Given the description of an element on the screen output the (x, y) to click on. 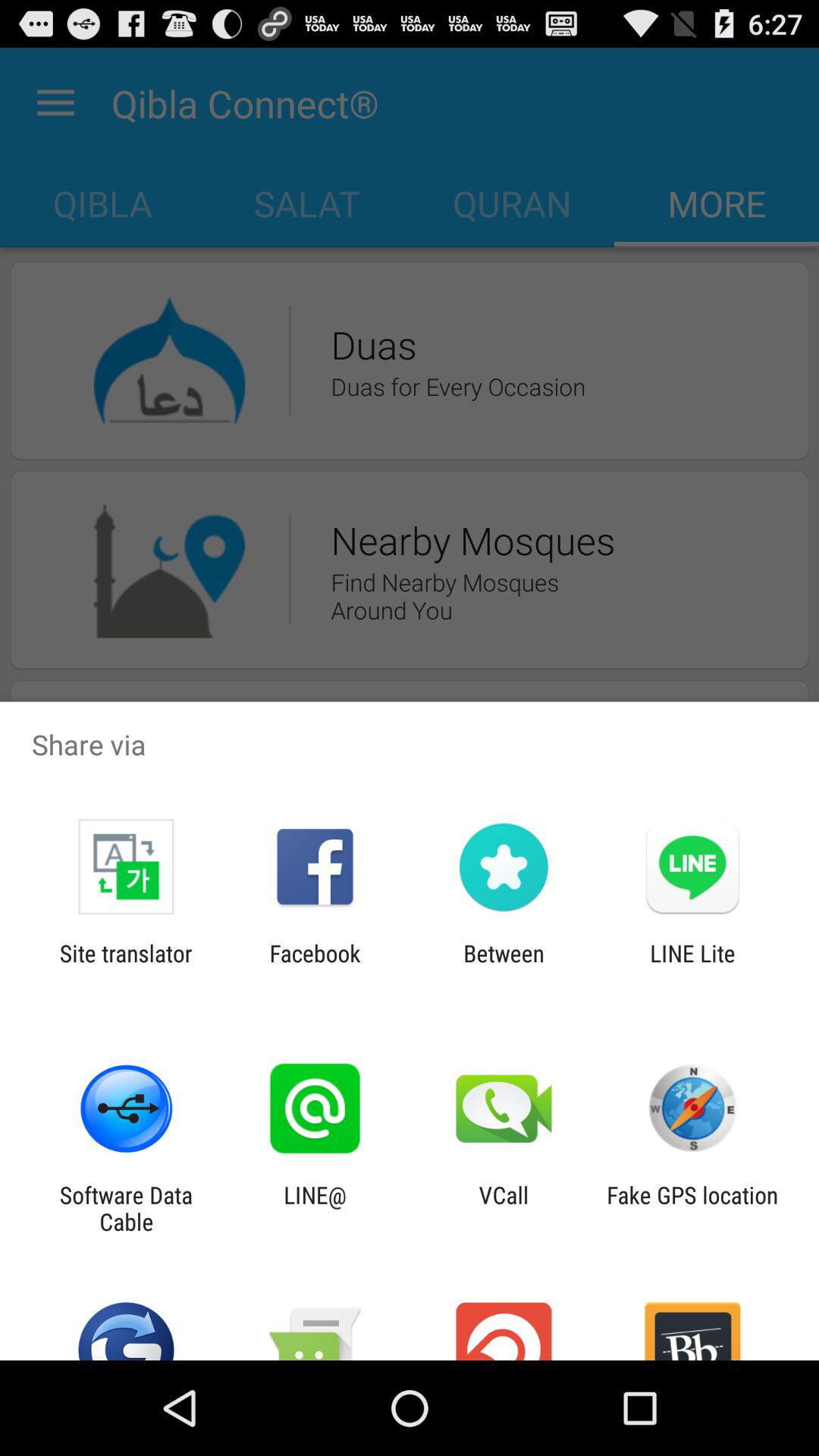
press item to the right of site translator icon (314, 966)
